Given the description of an element on the screen output the (x, y) to click on. 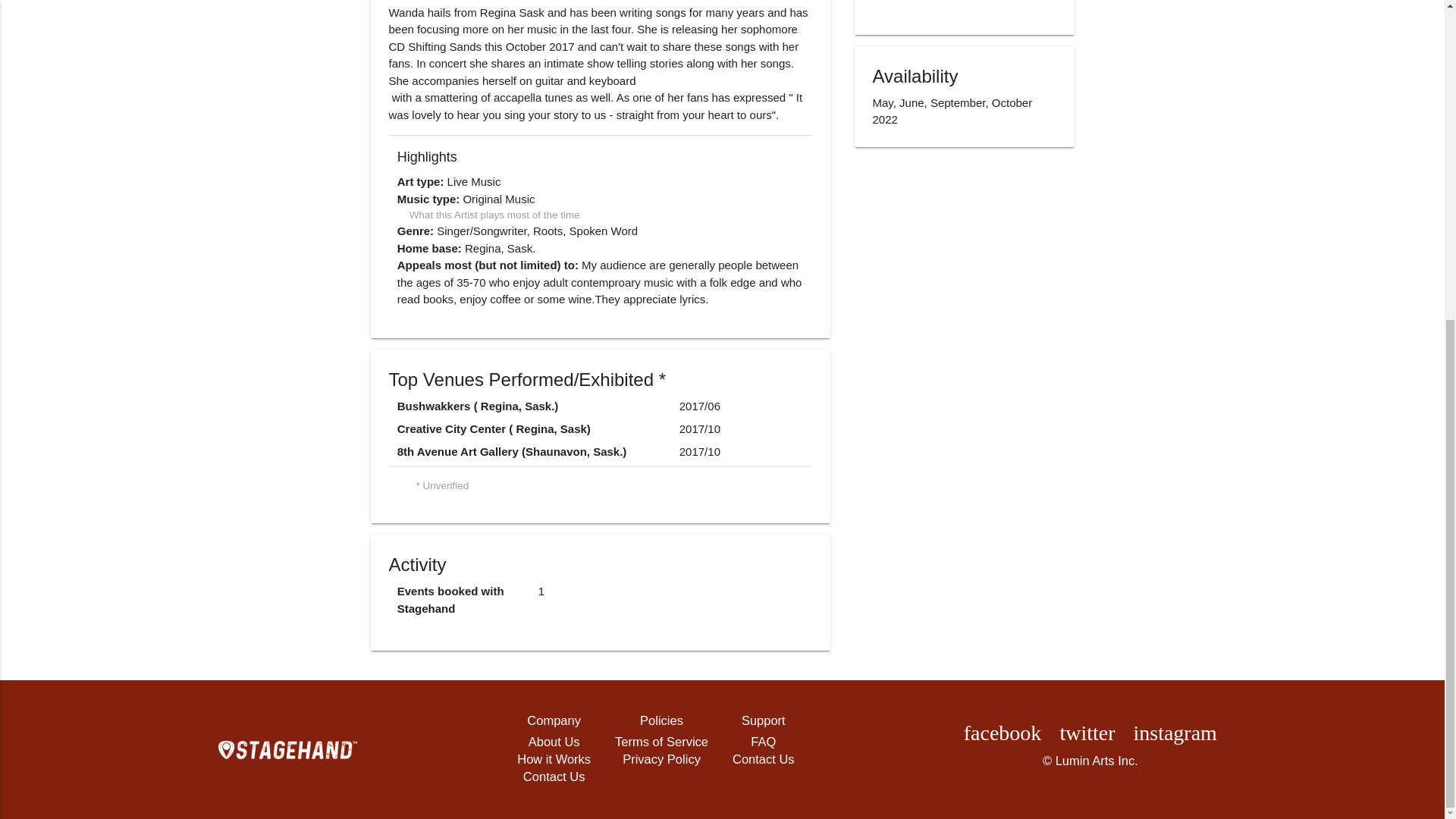
How it Works (553, 760)
About Us (553, 742)
